Given the description of an element on the screen output the (x, y) to click on. 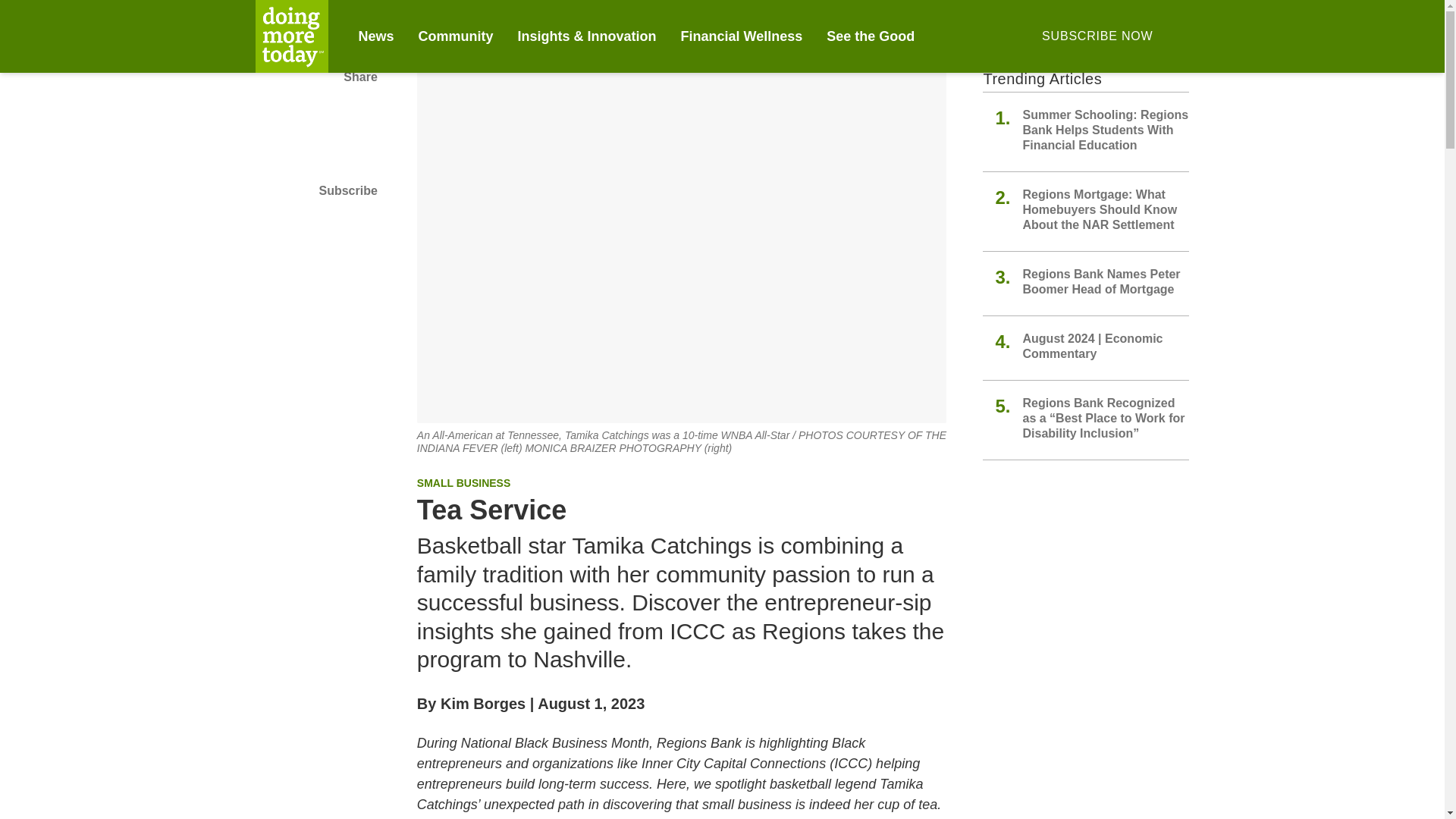
News (375, 35)
Financial Wellness (742, 35)
See the Good (870, 35)
Subscribe (315, 190)
Community (456, 35)
SUBSCRIBE NOW (1096, 36)
SMALL BUSINESS (463, 482)
